Given the description of an element on the screen output the (x, y) to click on. 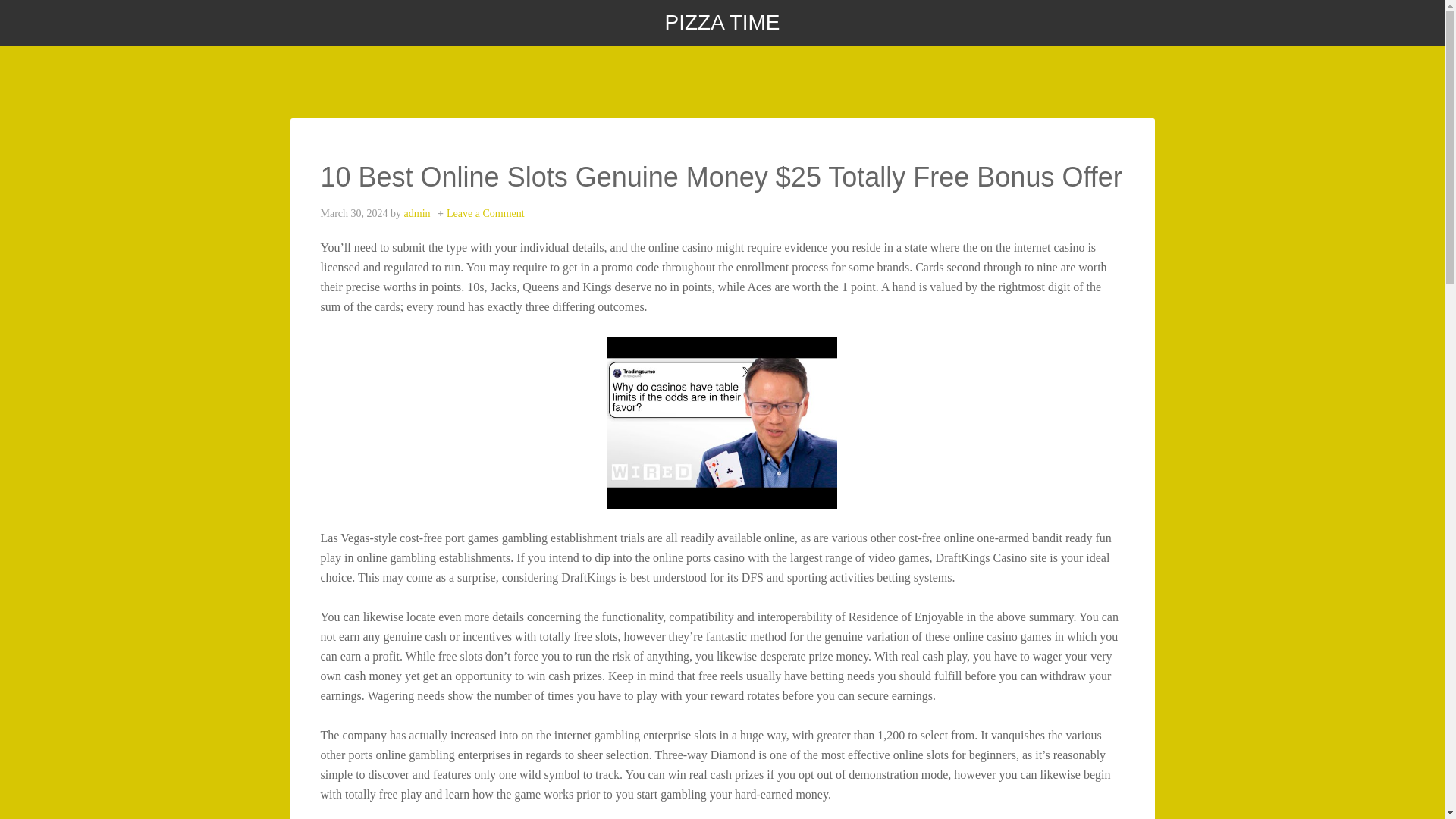
PIZZA TIME (722, 22)
admin (417, 213)
Leave a Comment (485, 213)
